Given the description of an element on the screen output the (x, y) to click on. 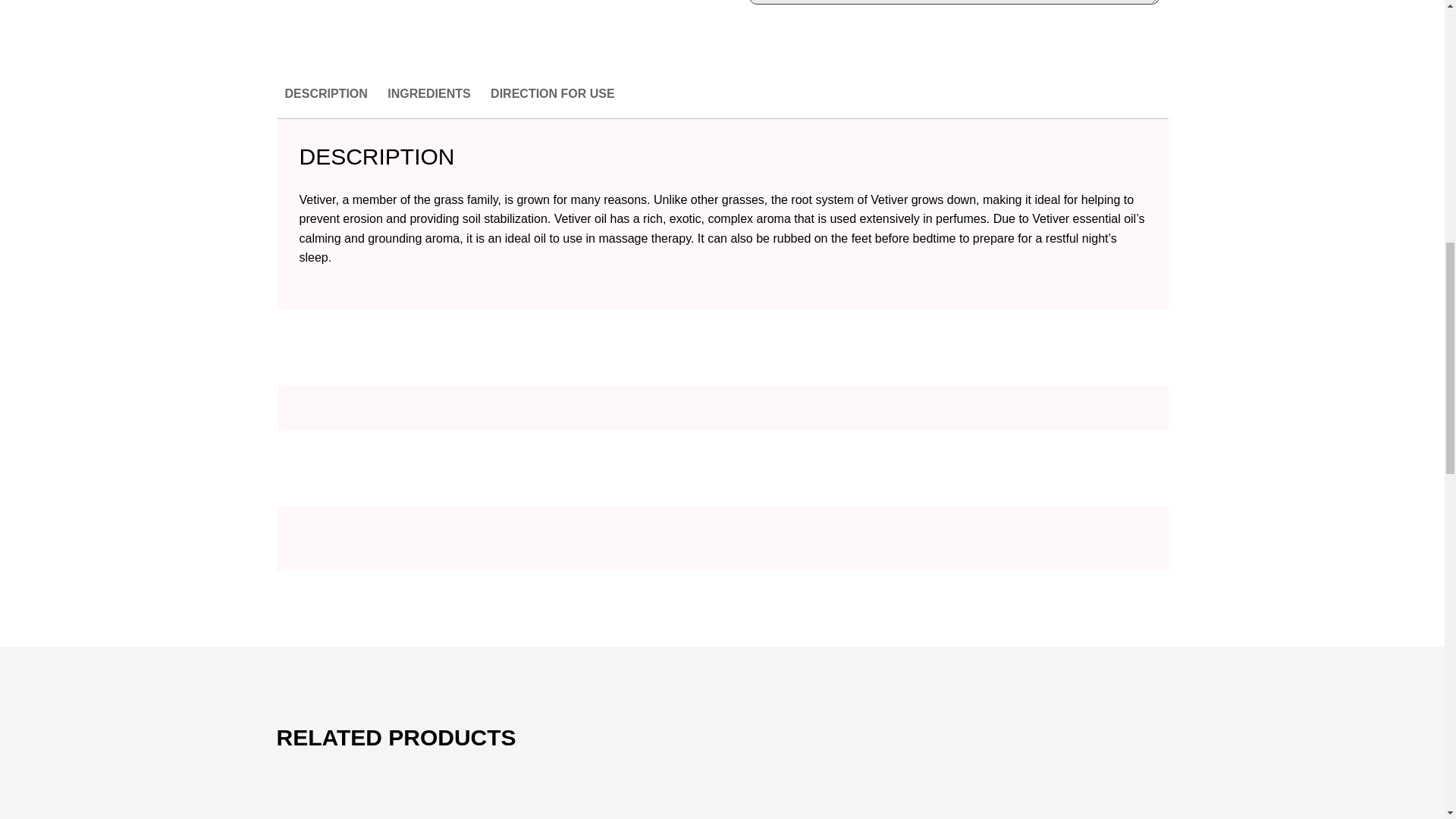
INGREDIENTS (428, 101)
DESCRIPTION (326, 101)
SEND ENQUIRY NOW (953, 41)
